Given the description of an element on the screen output the (x, y) to click on. 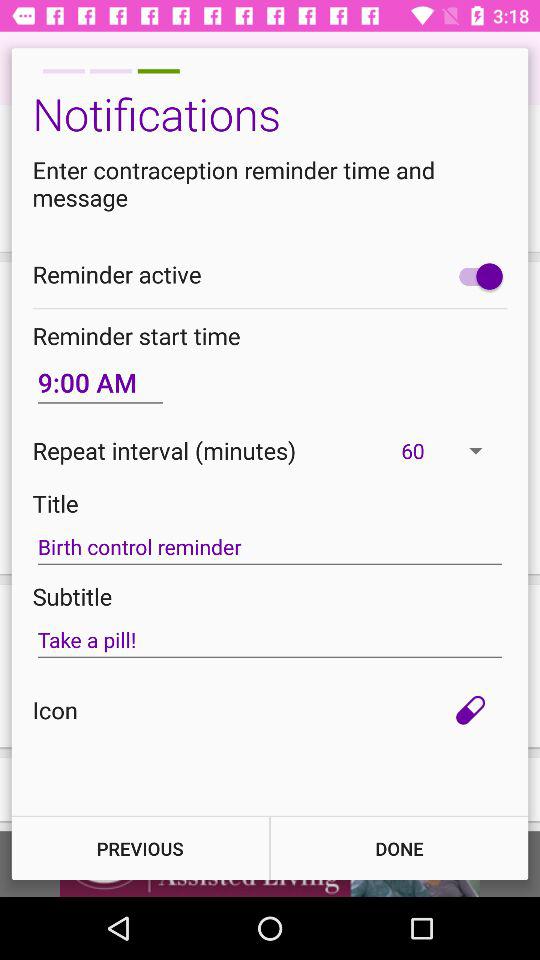
click the icon above the repeat interval (minutes) icon (100, 382)
